Given the description of an element on the screen output the (x, y) to click on. 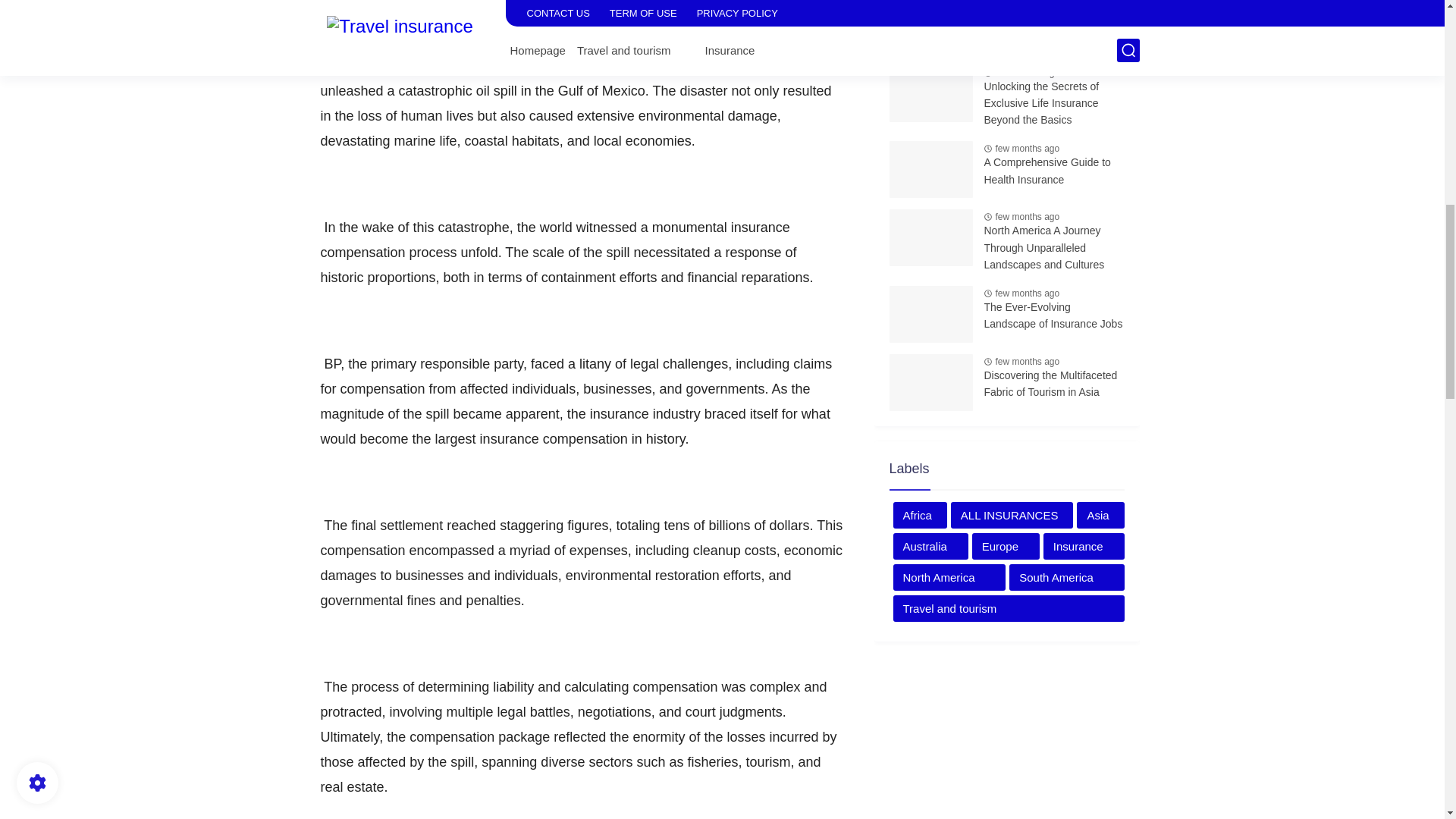
few months ago (1026, 72)
few months ago (1026, 0)
Navigating the Uncharted Waters of Luxury Car Insurance (1054, 27)
